Given the description of an element on the screen output the (x, y) to click on. 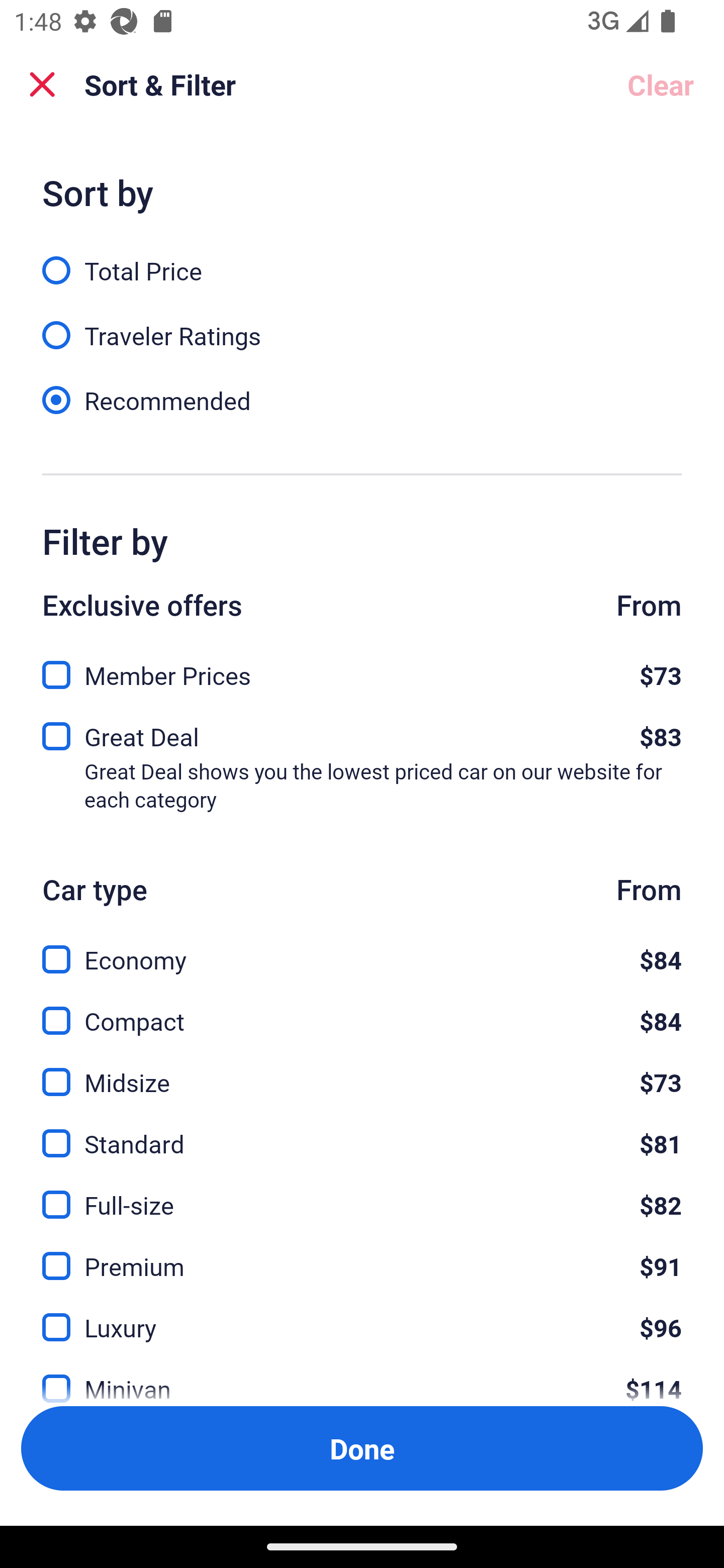
Close Sort and Filter (42, 84)
Clear (660, 84)
Total Price (361, 259)
Traveler Ratings (361, 324)
Member Prices, $73 Member Prices $73 (361, 669)
Economy, $84 Economy $84 (361, 947)
Compact, $84 Compact $84 (361, 1008)
Midsize, $73 Midsize $73 (361, 1070)
Standard, $81 Standard $81 (361, 1132)
Full-size, $82 Full-size $82 (361, 1193)
Premium, $91 Premium $91 (361, 1254)
Luxury, $96 Luxury $96 (361, 1315)
Minivan, $114 Minivan $114 (361, 1376)
Apply and close Sort and Filter Done (361, 1448)
